Given the description of an element on the screen output the (x, y) to click on. 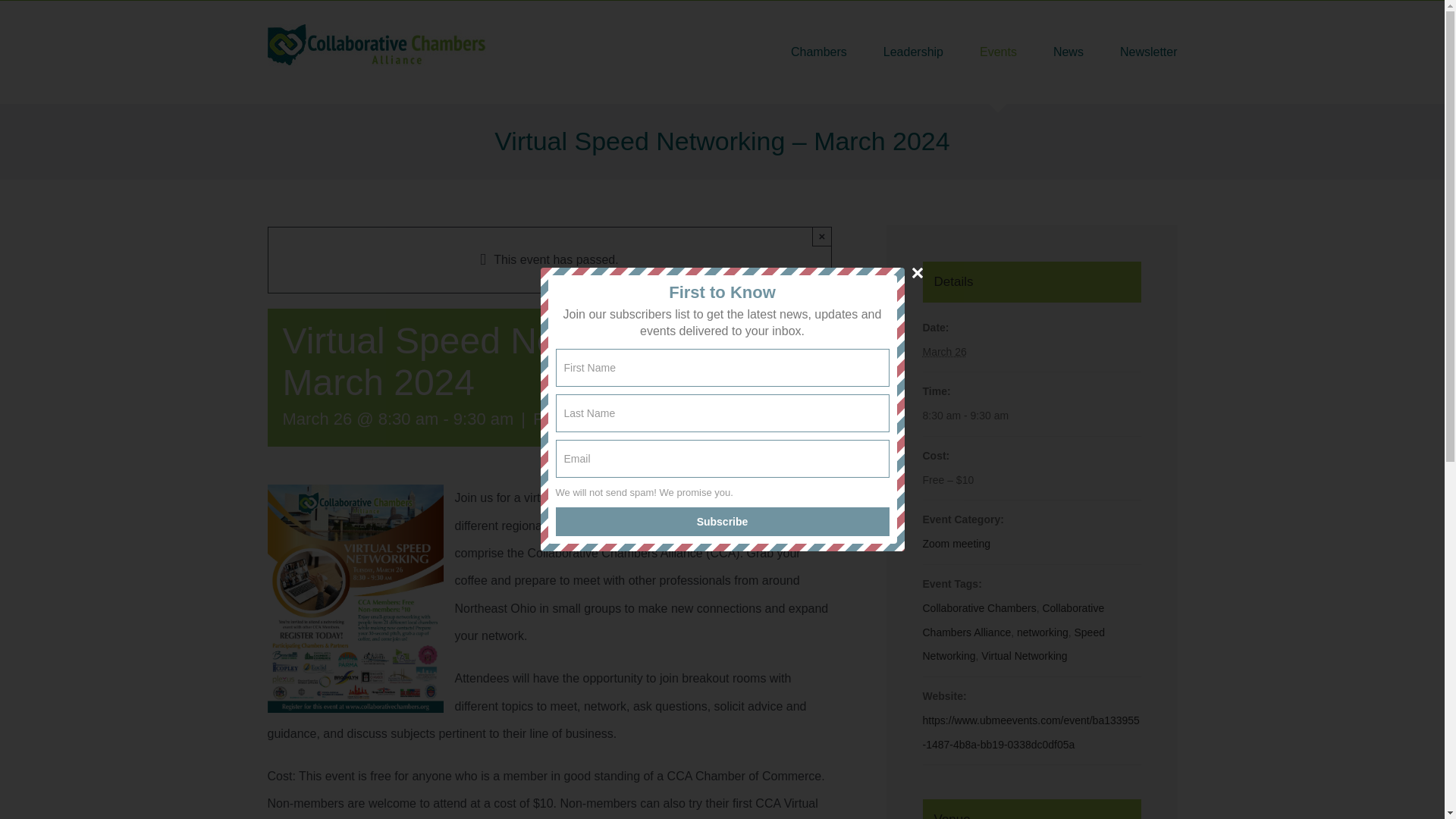
Collaborative Chambers Alliance (1012, 619)
Subscribe (721, 521)
Collaborative Chambers (978, 607)
networking (1042, 632)
2024-03-26 (1030, 416)
2024-03-26 (943, 351)
Zoom meeting (955, 543)
